Given the description of an element on the screen output the (x, y) to click on. 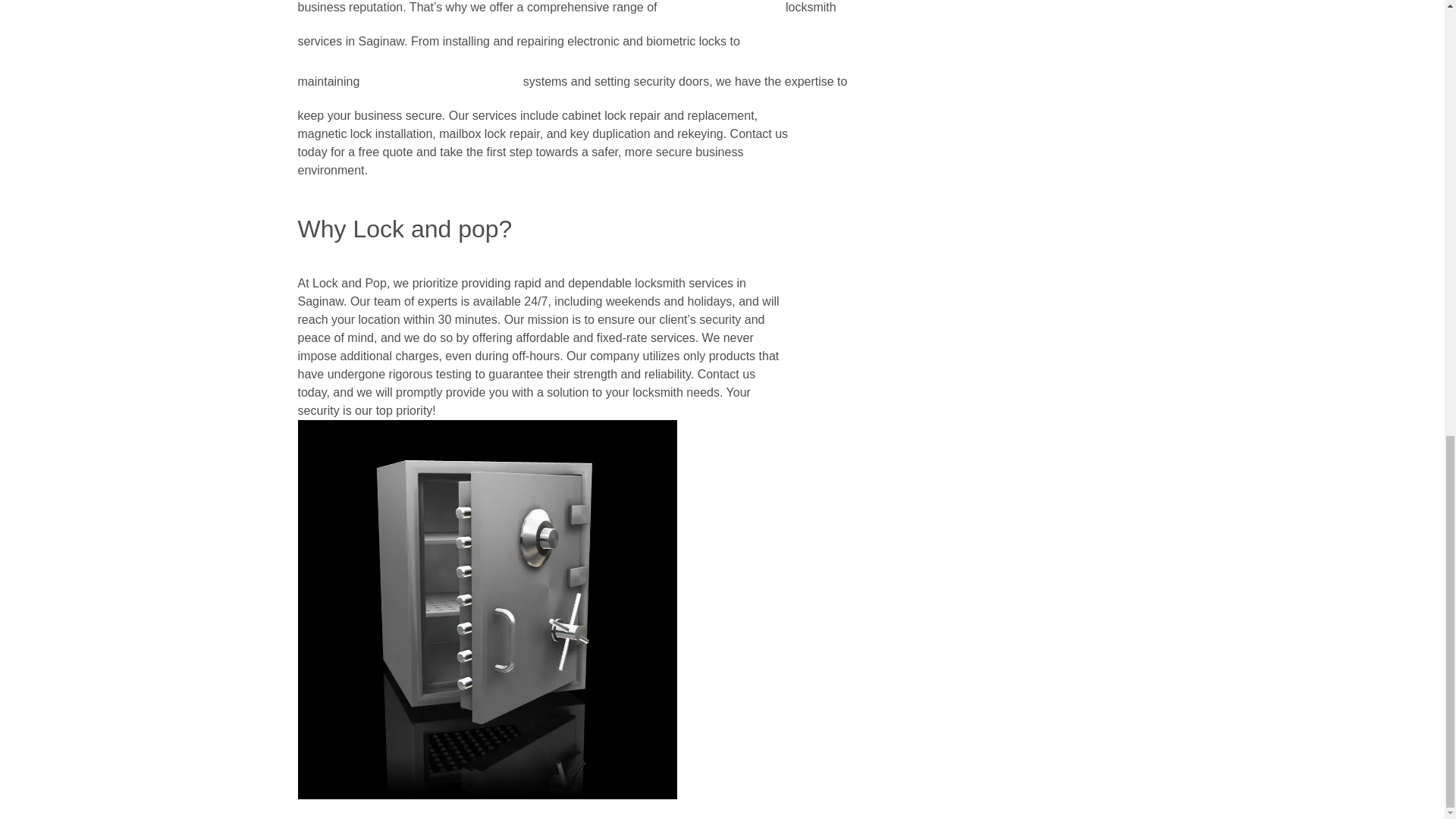
Access Control (440, 78)
Commercial (722, 7)
